Given the description of an element on the screen output the (x, y) to click on. 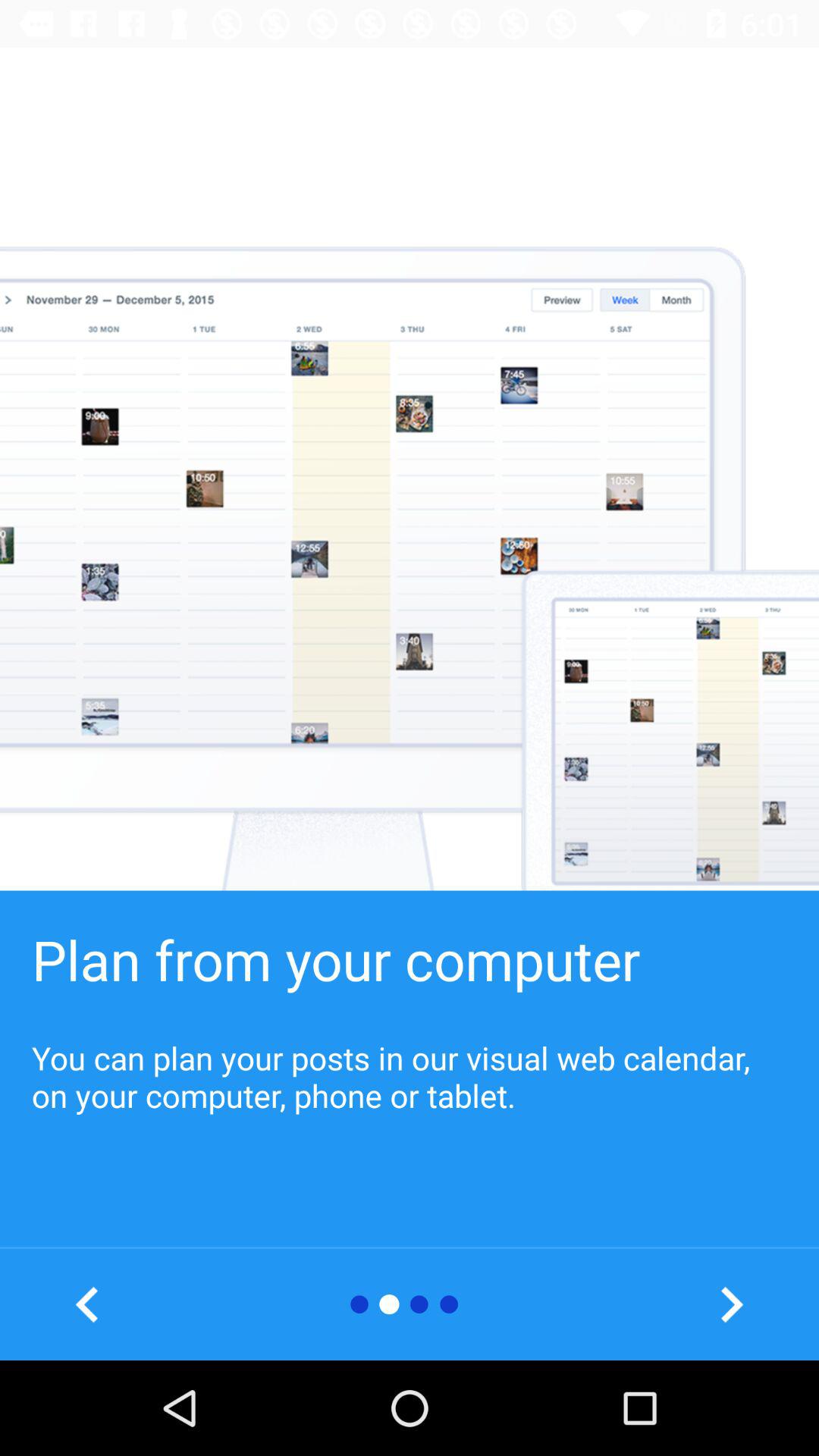
go to next page (731, 1304)
